Given the description of an element on the screen output the (x, y) to click on. 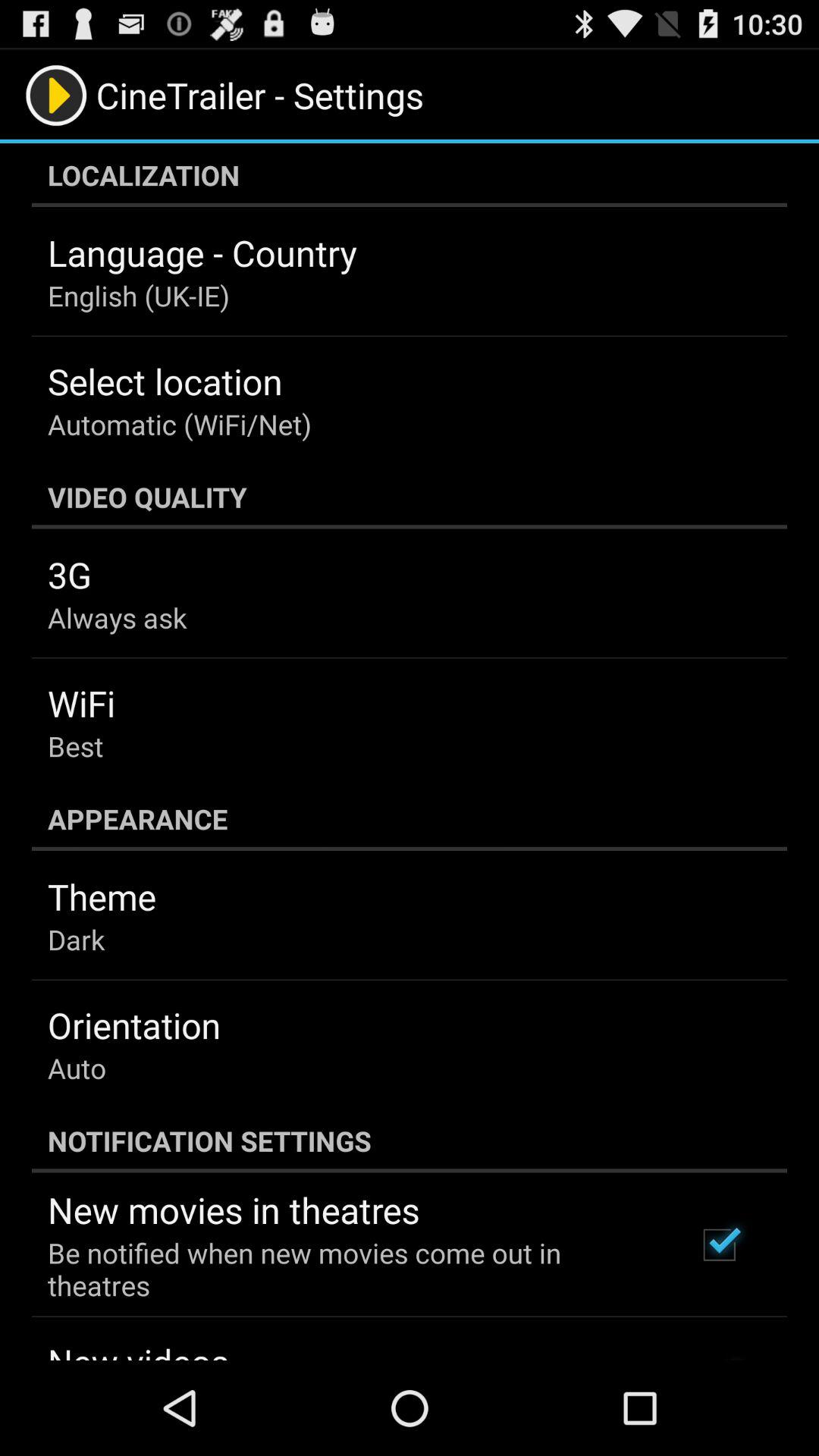
turn off the item above the orientation (76, 939)
